Given the description of an element on the screen output the (x, y) to click on. 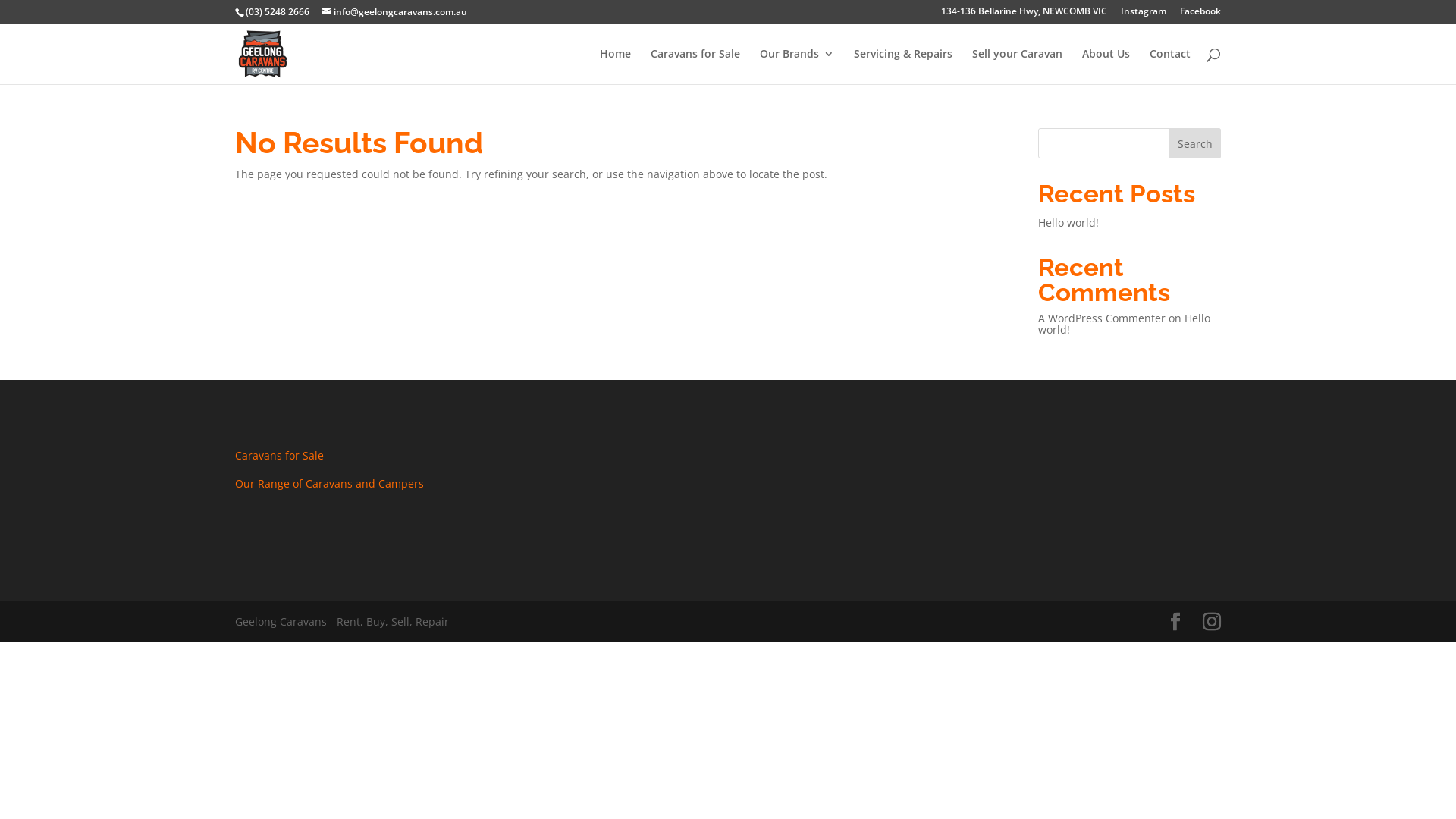
Our Brands Element type: text (796, 66)
Home Element type: text (614, 66)
Hello world! Element type: text (1124, 323)
Facebook Element type: text (1199, 14)
134-136 Bellarine Hwy, NEWCOMB VIC Element type: text (1024, 14)
Contact Element type: text (1169, 66)
Caravans for Sale Element type: text (279, 455)
About Us Element type: text (1105, 66)
Our Range of Caravans and Campers Element type: text (329, 483)
Hello world! Element type: text (1068, 222)
Search Element type: text (1194, 143)
A WordPress Commenter Element type: text (1101, 317)
Servicing & Repairs Element type: text (902, 66)
Sell your Caravan Element type: text (1017, 66)
Instagram Element type: text (1143, 14)
Caravans for Sale Element type: text (695, 66)
info@geelongcaravans.com.au Element type: text (394, 11)
